Given the description of an element on the screen output the (x, y) to click on. 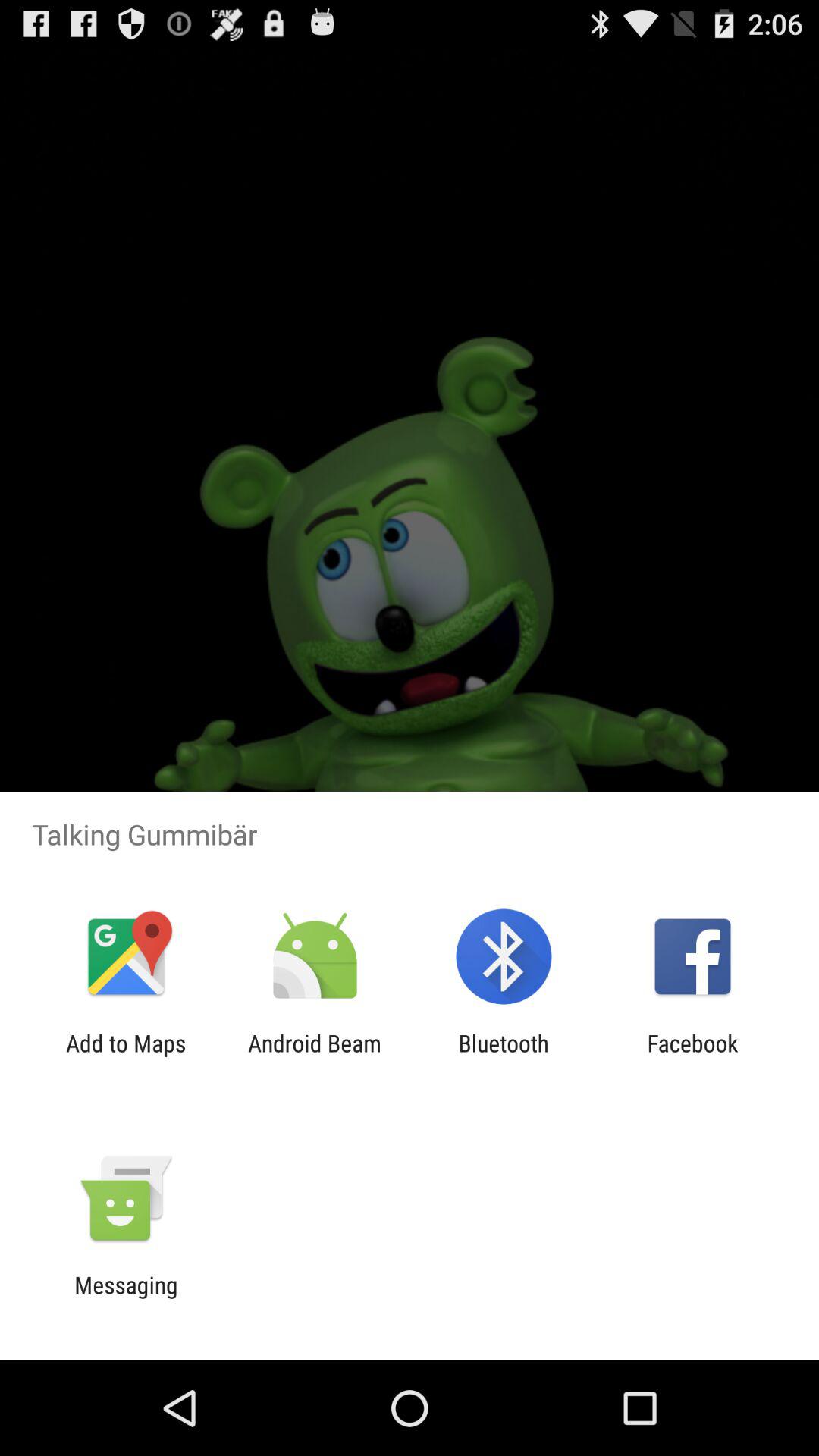
choose item to the left of the bluetooth item (314, 1056)
